Given the description of an element on the screen output the (x, y) to click on. 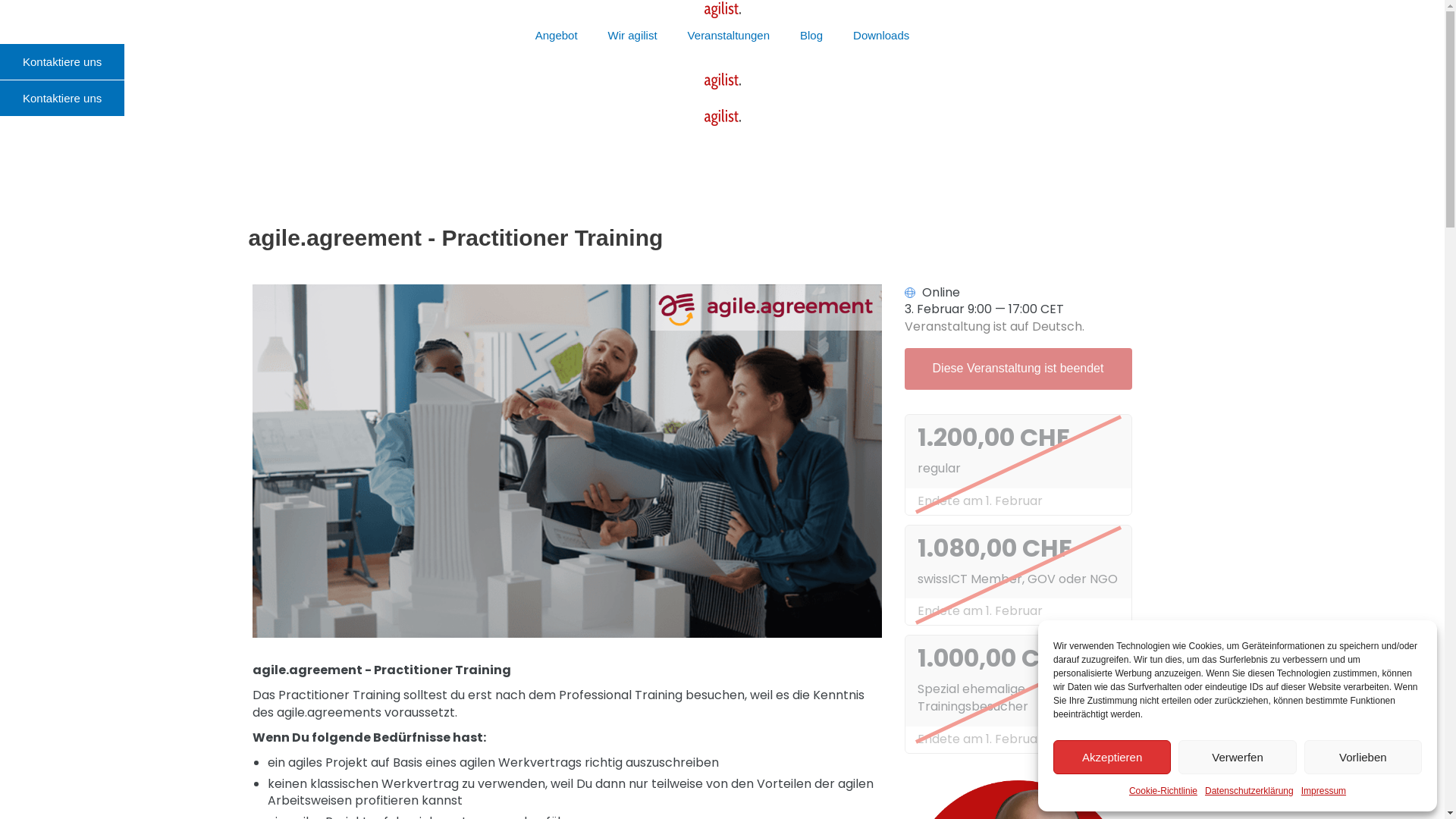
Impressum Element type: text (1323, 790)
Angebot Element type: text (556, 35)
Akzeptieren Element type: text (1111, 757)
Wir agilist Element type: text (632, 35)
Vorlieben Element type: text (1362, 757)
Cookie-Richtlinie Element type: text (1163, 790)
Veranstaltungen Element type: text (728, 35)
Blog Element type: text (810, 35)
Verwerfen Element type: text (1236, 757)
Diese Veranstaltung ist beendet Element type: text (1017, 368)
Kontaktiere uns Element type: text (62, 98)
Kontaktiere uns Element type: text (62, 61)
Downloads Element type: text (880, 35)
